Given the description of an element on the screen output the (x, y) to click on. 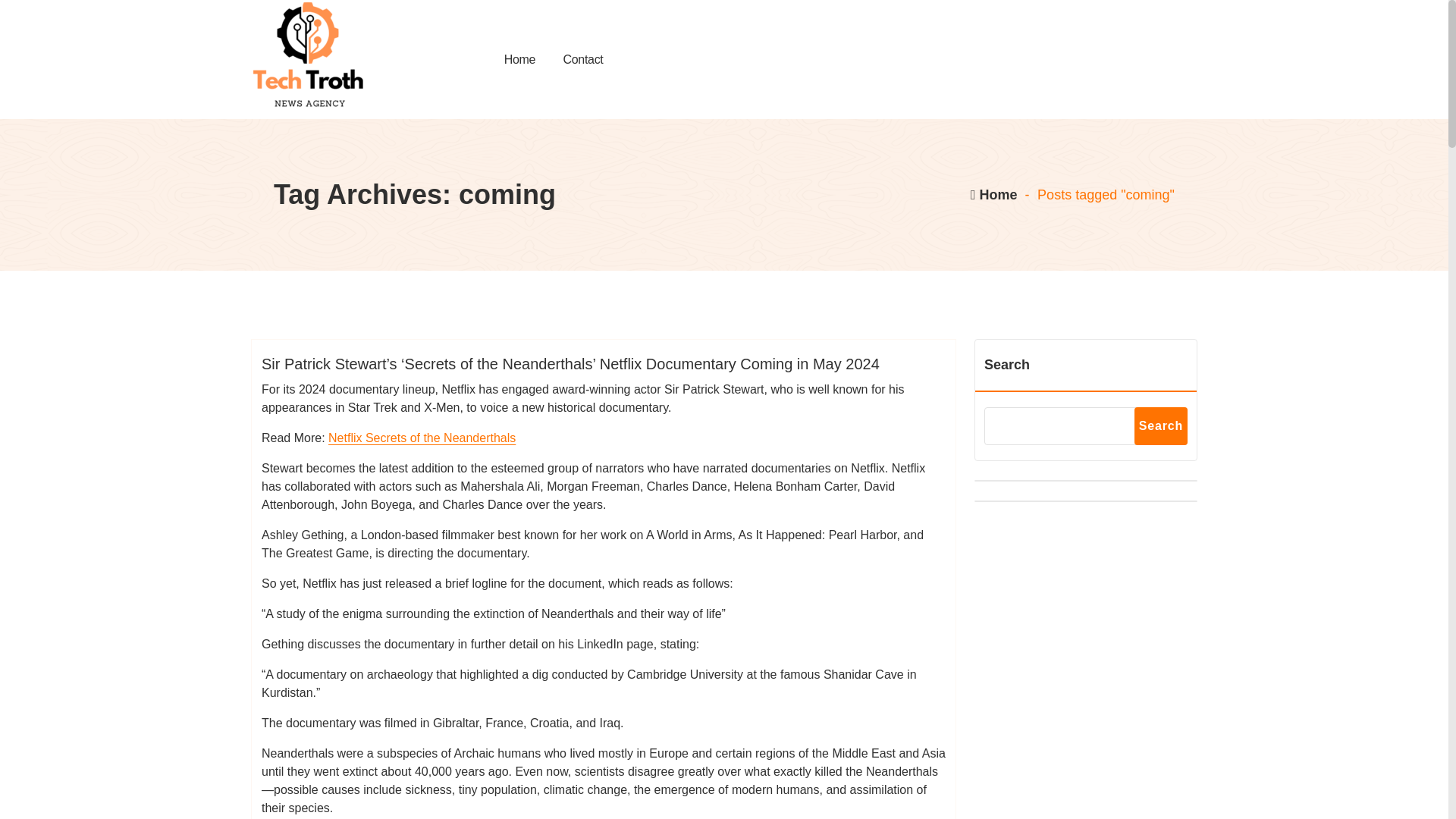
Contact (582, 59)
Home (993, 193)
Home (520, 59)
Contact (582, 59)
Netflix Secrets of the Neanderthals (422, 437)
Home (520, 59)
